Given the description of an element on the screen output the (x, y) to click on. 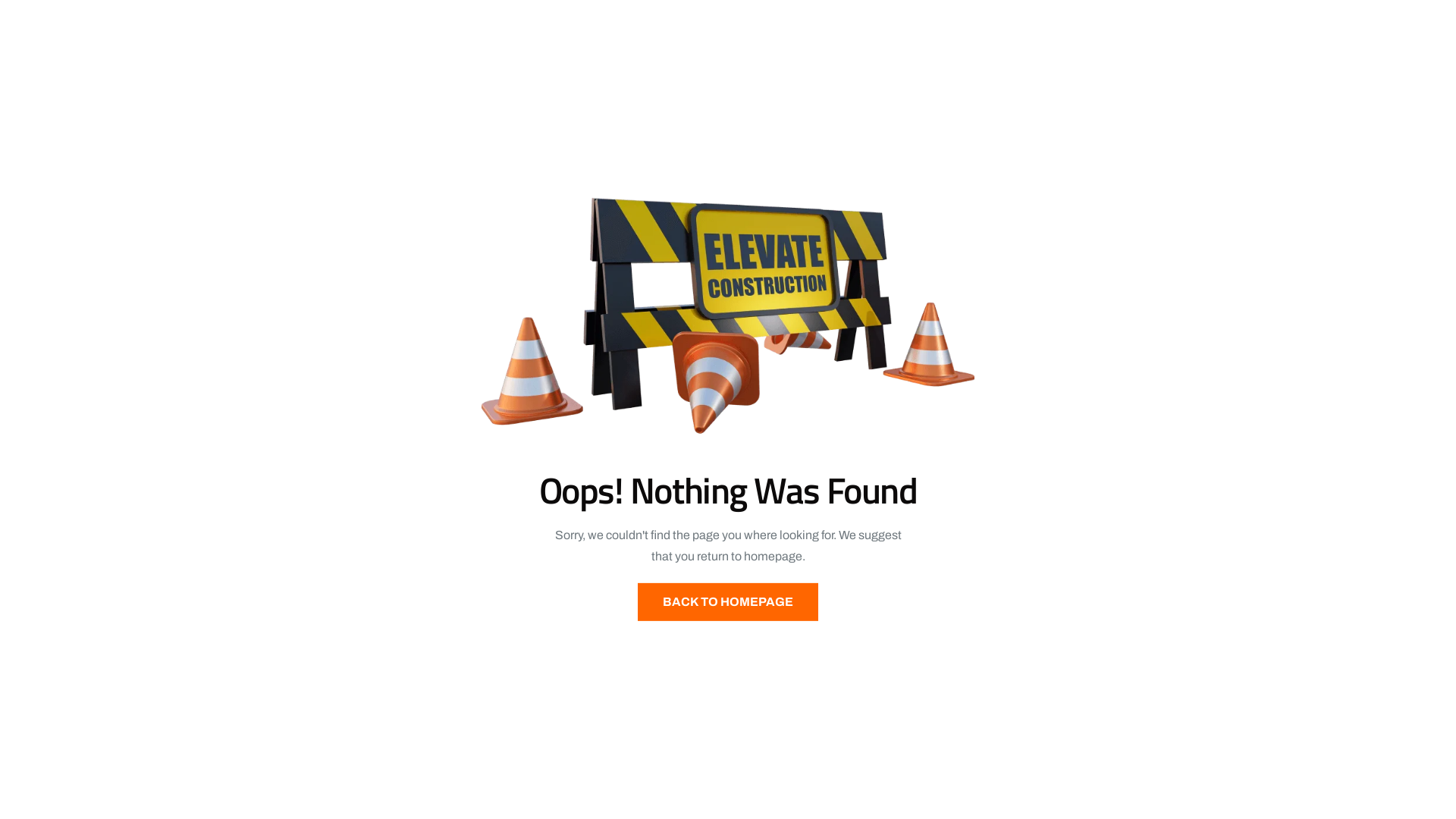
BACK TO HOMEPAGE Element type: text (727, 602)
